Given the description of an element on the screen output the (x, y) to click on. 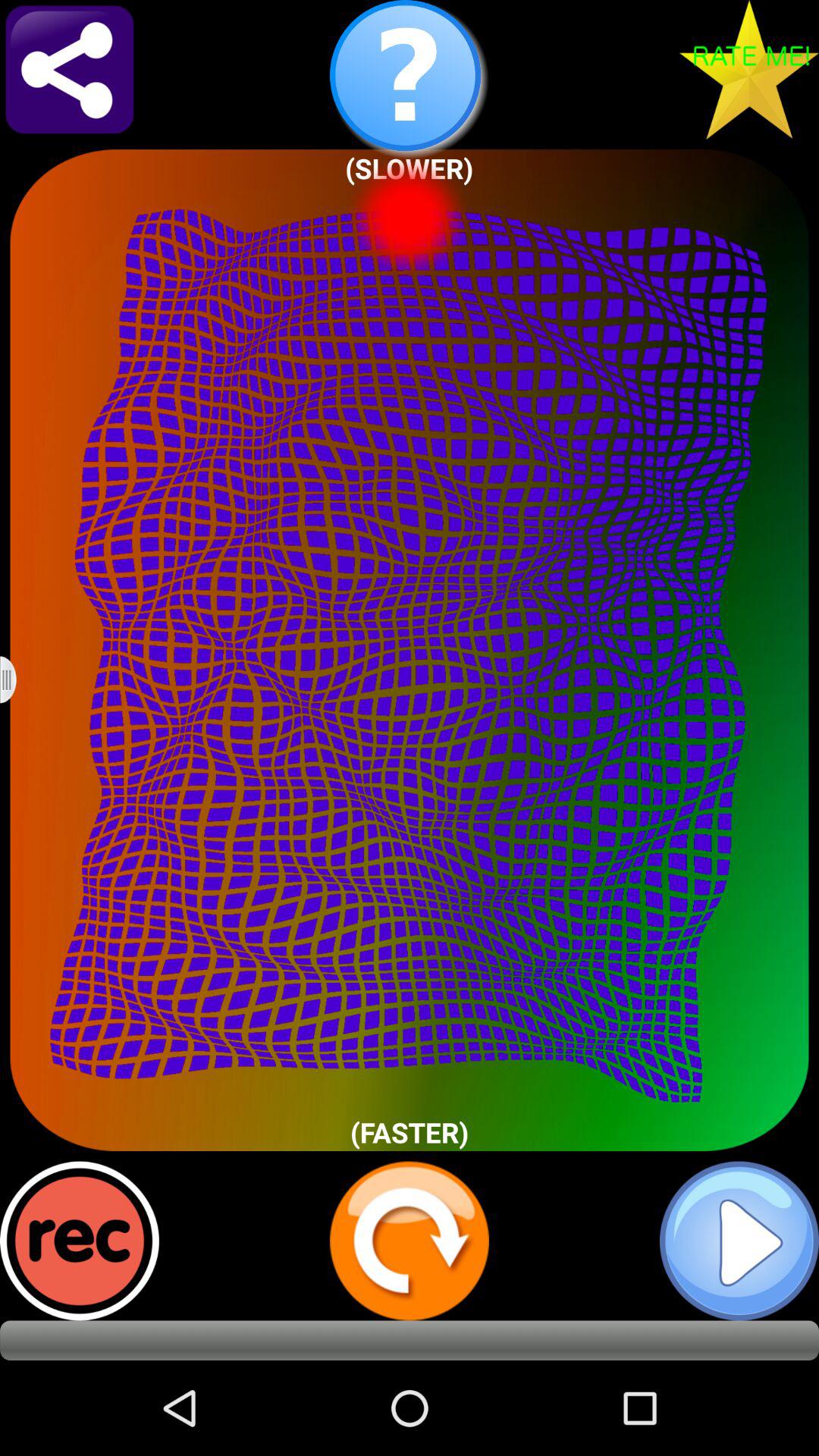
record sound (79, 1240)
